Given the description of an element on the screen output the (x, y) to click on. 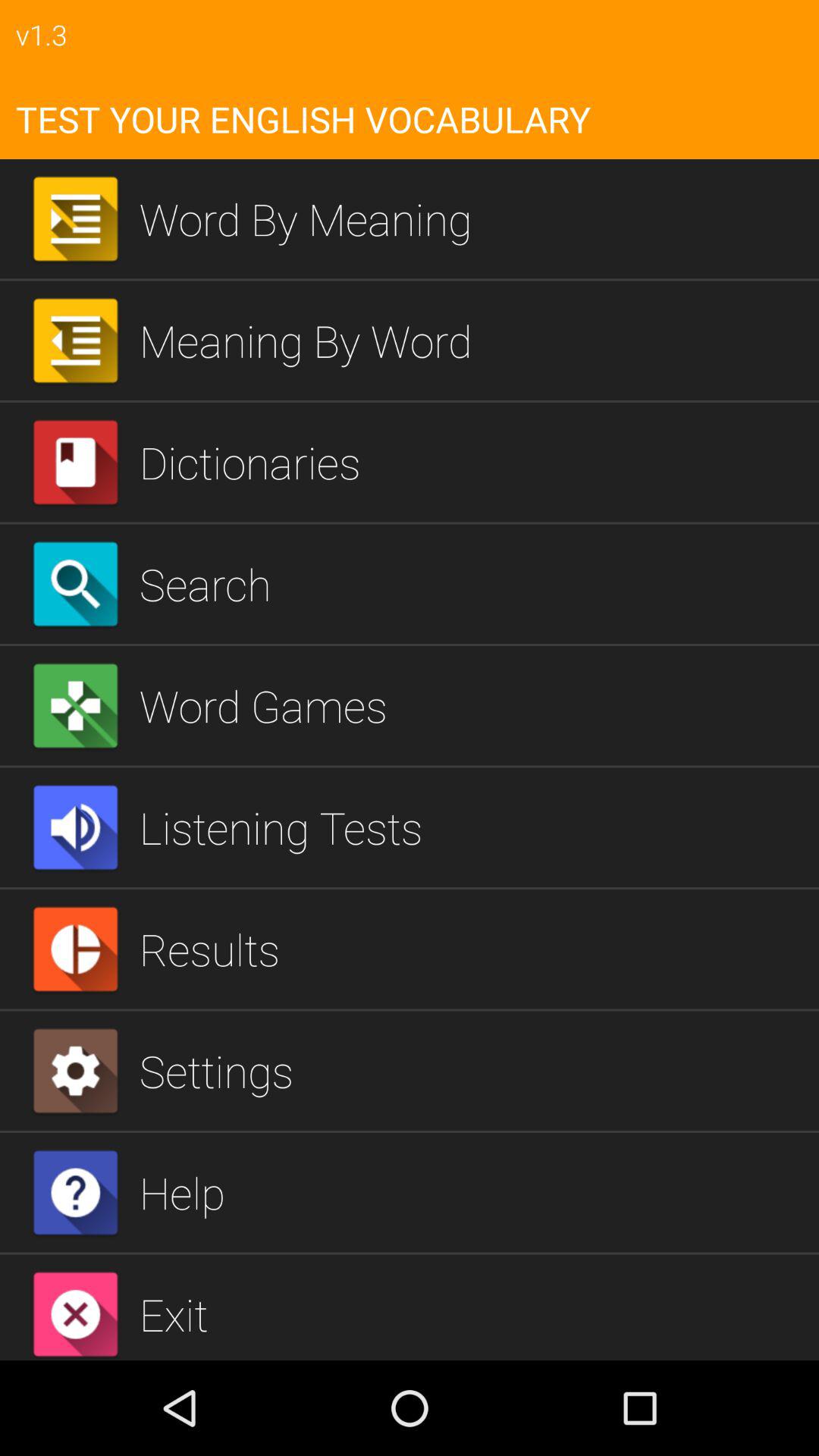
launch word games (473, 705)
